Given the description of an element on the screen output the (x, y) to click on. 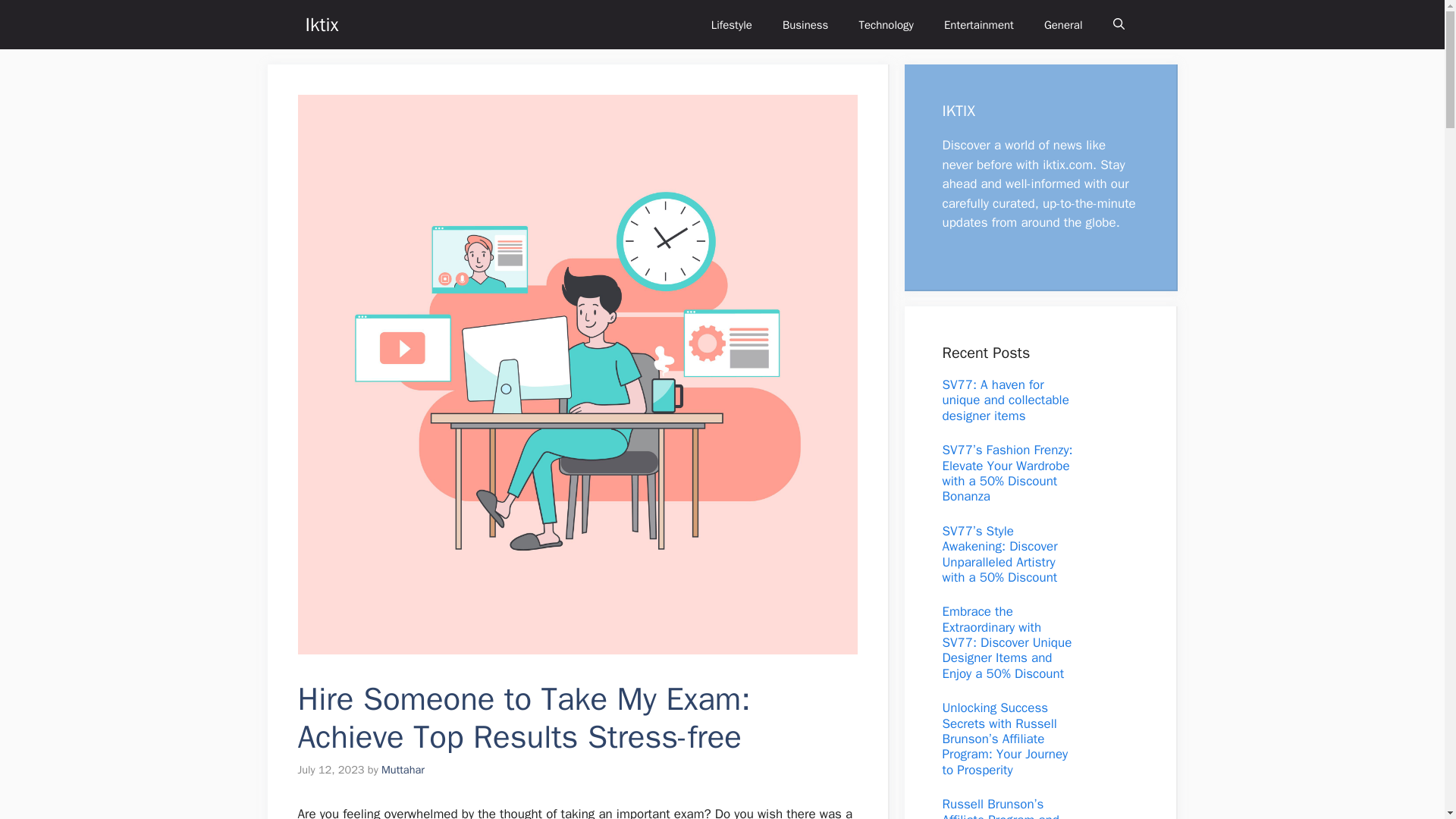
Technology (885, 23)
Business (805, 23)
Entertainment (978, 23)
Lifestyle (731, 23)
General (1063, 23)
View all posts by Muttahar (403, 769)
Muttahar (403, 769)
SV77: A haven for unique and collectable designer items (1005, 400)
